Given the description of an element on the screen output the (x, y) to click on. 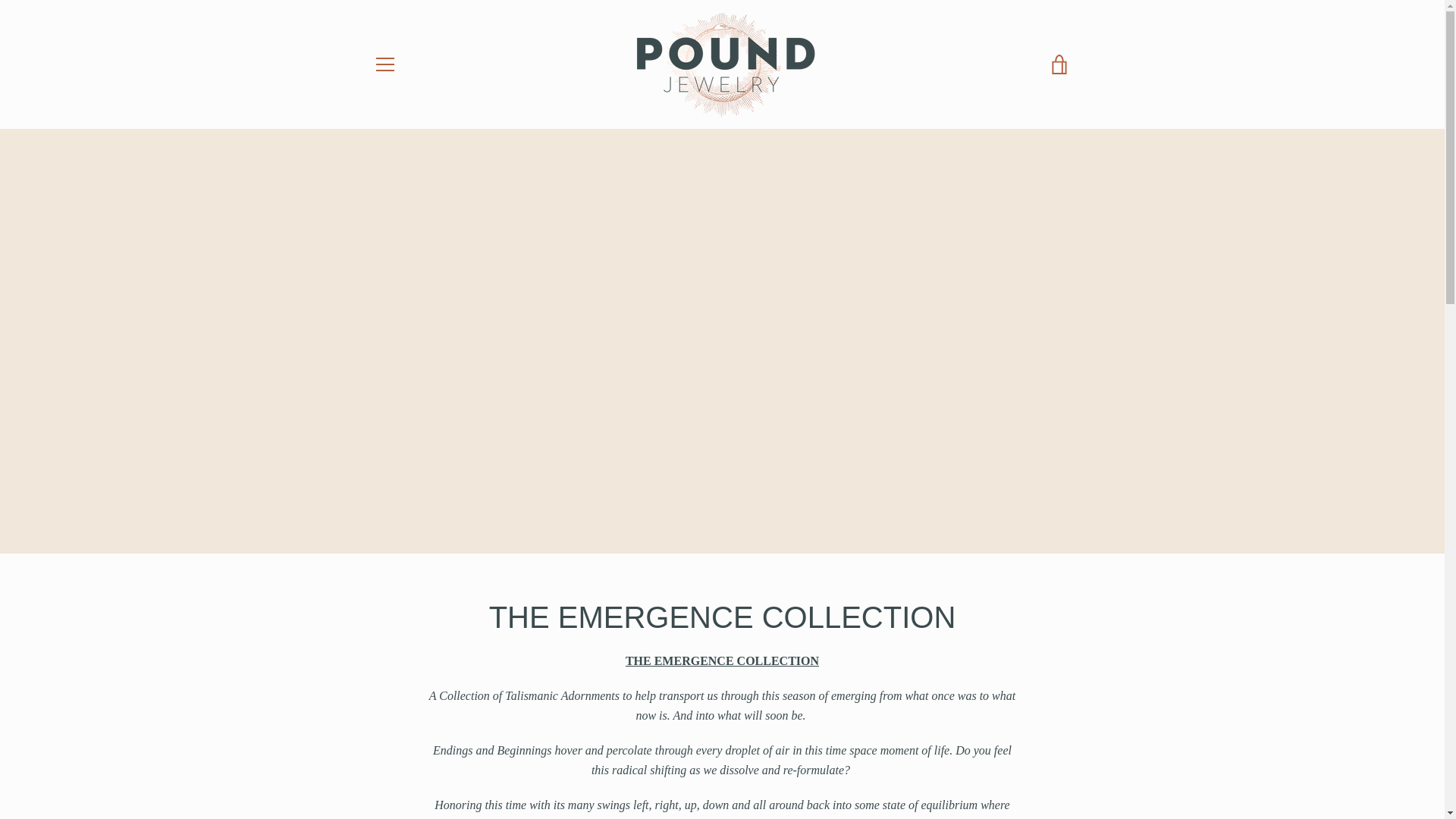
MENU (384, 64)
VIEW CART (1059, 64)
